Given the description of an element on the screen output the (x, y) to click on. 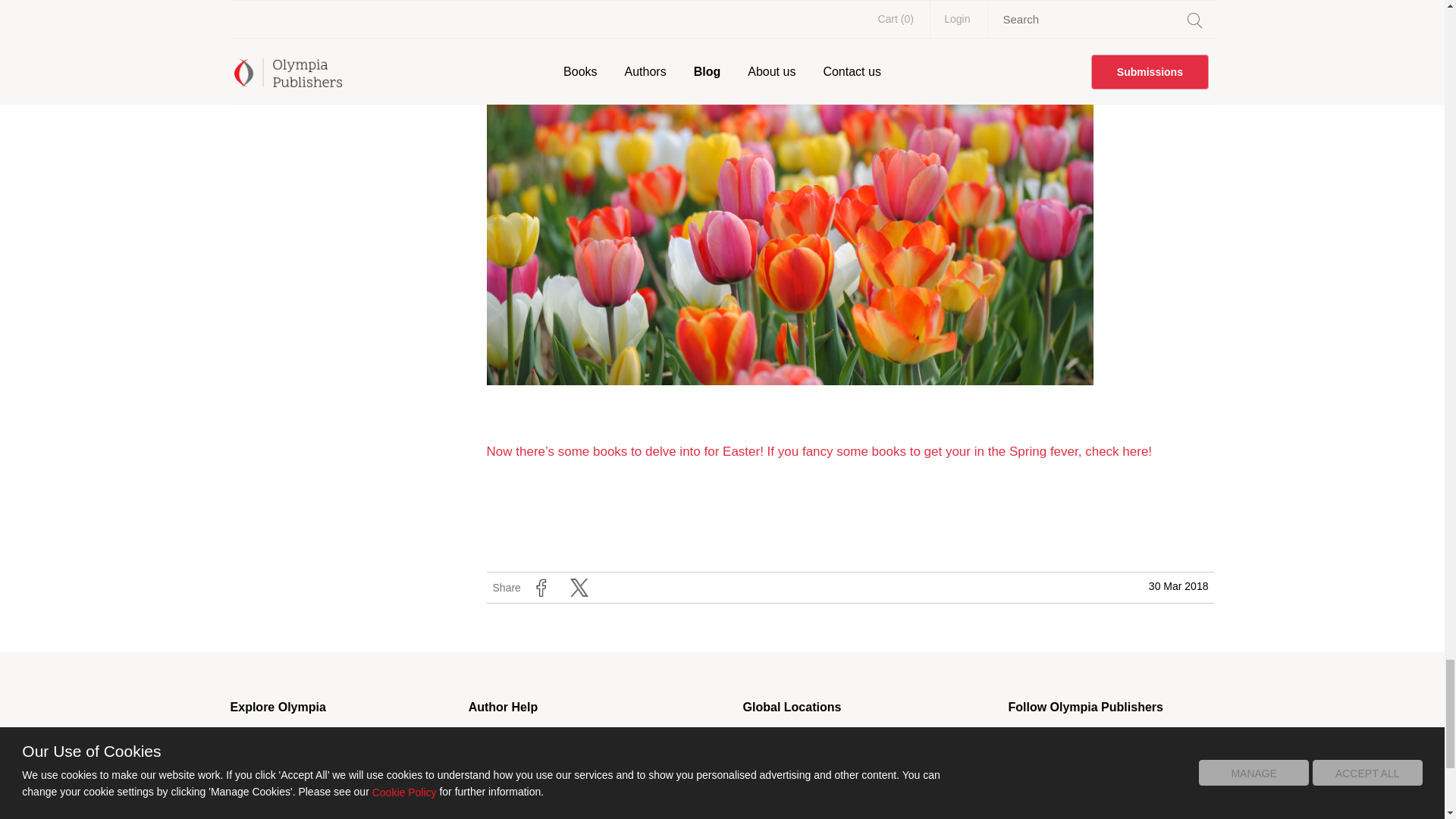
Follow Bumblebee on Twitter (1059, 810)
Follow us on TikTok (1103, 740)
Like Bumblebee on Facebook (1015, 810)
Like Us on Facebook (1015, 740)
Follow Bumblebee on Instagram (1191, 810)
Follow us on Instagram (1191, 740)
Follow on Tiktok (1103, 810)
Bumblebee Youtube Channel (1148, 810)
Our Youtube Channel (1148, 740)
Follow us on Twitter (1059, 740)
